Given the description of an element on the screen output the (x, y) to click on. 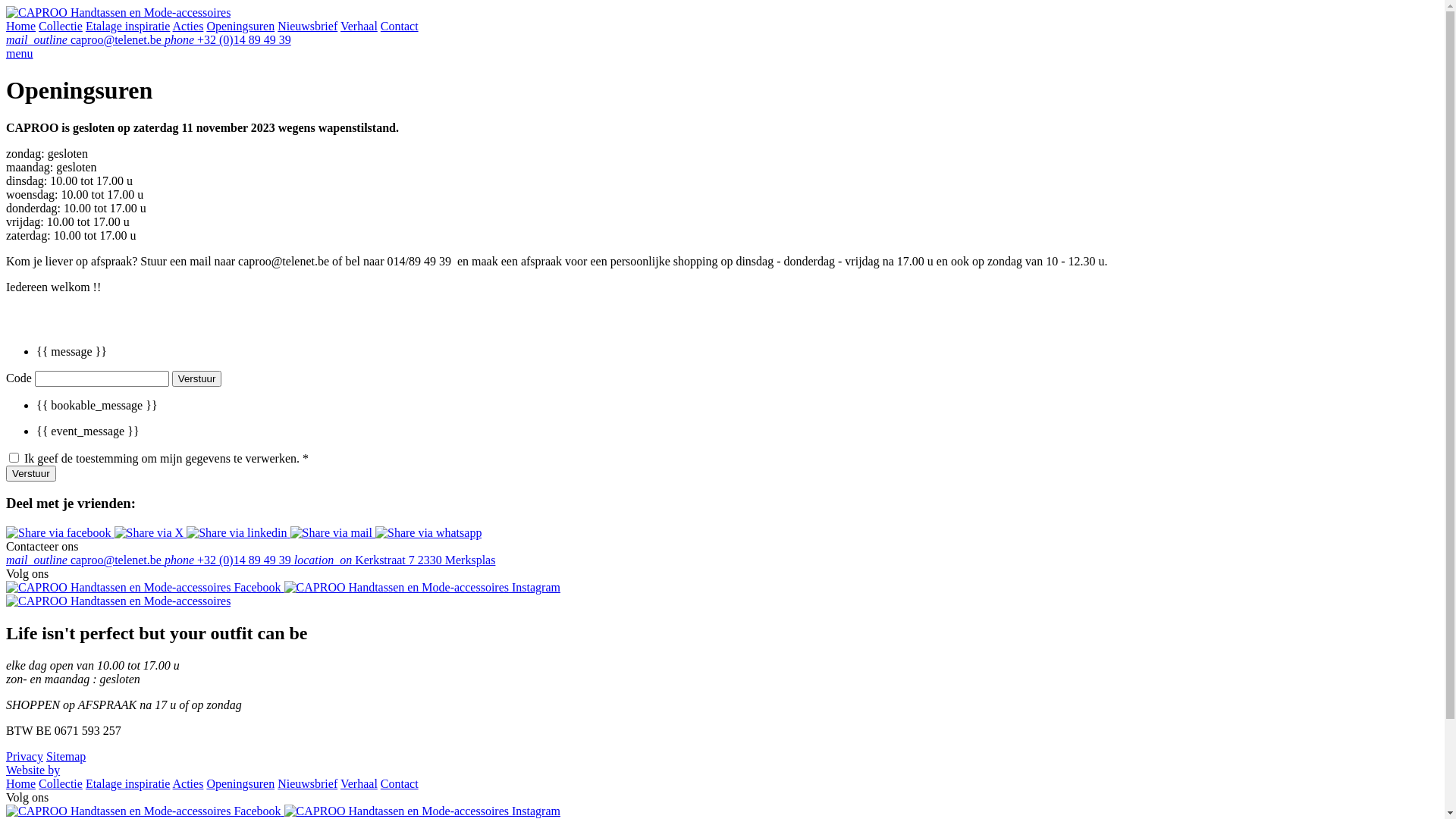
Contact Element type: text (399, 783)
Share via mail Element type: hover (332, 532)
phone +32 (0)14 89 49 39 Element type: text (229, 559)
Verstuur Element type: text (31, 473)
Share via X Element type: hover (150, 532)
Acties Element type: text (187, 25)
Share via whatsapp Element type: hover (428, 532)
Nieuwsbrief Element type: text (307, 783)
phone +32 (0)14 89 49 39 Element type: text (227, 39)
mail_outline caproo@telenet.be Element type: text (85, 39)
CAPROO Handtassen en Mode-accessoires Instagram Element type: hover (422, 586)
CAPROO Handtassen en Mode-accessoires Element type: hover (118, 600)
Website by Element type: text (32, 769)
Collectie Element type: text (60, 25)
Verhaal Element type: text (358, 25)
Collectie Element type: text (60, 783)
Verhaal Element type: text (358, 783)
Acties Element type: text (187, 783)
Home Element type: text (20, 25)
Verstuur Element type: text (197, 378)
Share via facebook Element type: hover (60, 532)
location_on Kerkstraat 7 2330 Merksplas Element type: text (394, 559)
Privacy Element type: text (24, 755)
CAPROO Handtassen en Mode-accessoires Element type: hover (118, 12)
Etalage inspiratie Element type: text (127, 25)
CAPROO Handtassen en Mode-accessoires Facebook Element type: hover (145, 586)
Openingsuren Element type: text (240, 783)
Sitemap Element type: text (65, 755)
Nieuwsbrief Element type: text (307, 25)
Home Element type: text (20, 783)
CAPROO Handtassen en Mode-accessoires Instagram Element type: hover (422, 810)
menu Element type: text (19, 53)
Share via linkedin Element type: hover (237, 532)
CAPROO Handtassen en Mode-accessoires Facebook Element type: hover (145, 810)
Etalage inspiratie Element type: text (127, 783)
Openingsuren Element type: text (240, 25)
mail_outline caproo@telenet.be Element type: text (85, 559)
Contact Element type: text (399, 25)
